Given the description of an element on the screen output the (x, y) to click on. 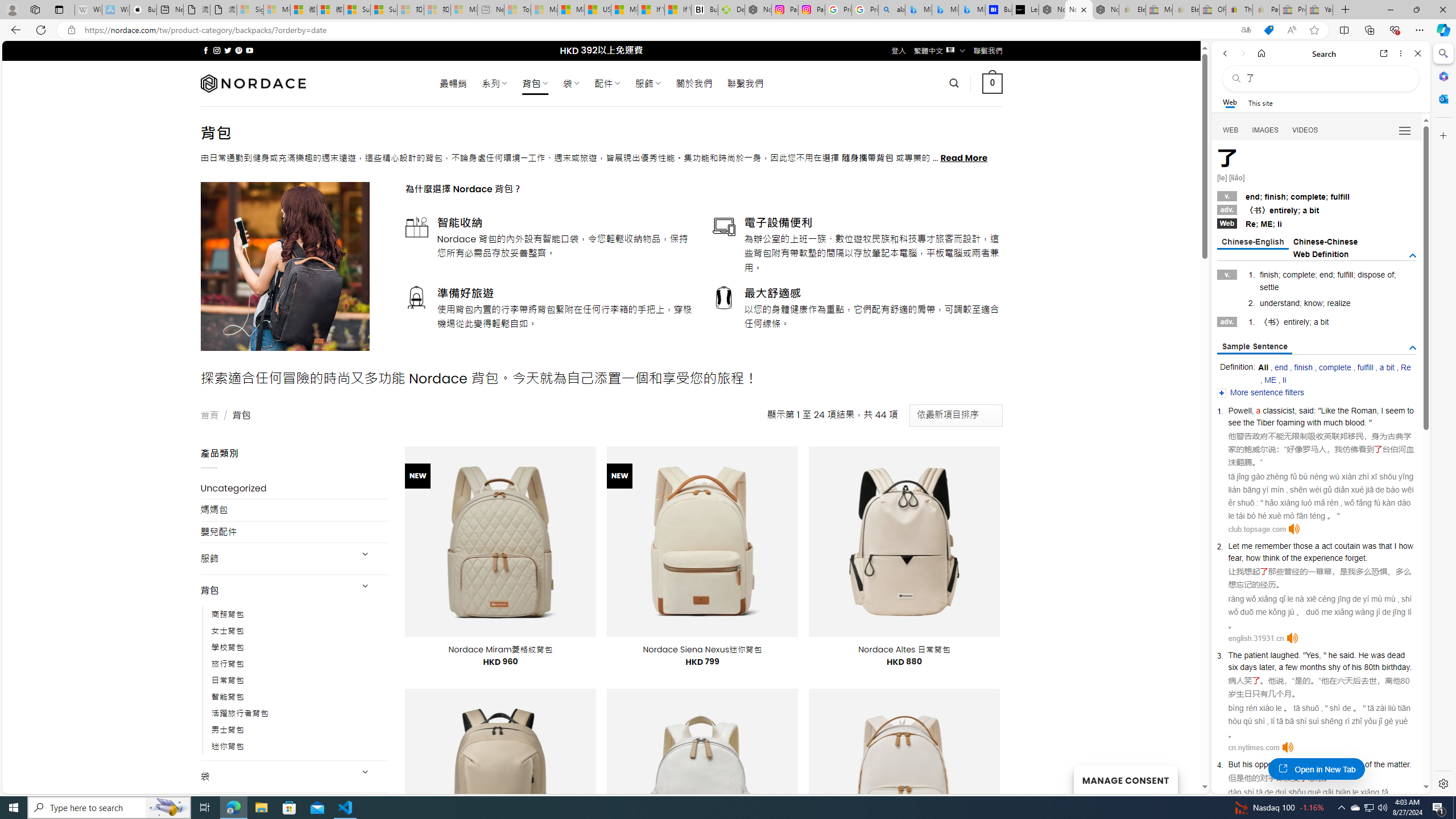
Read More (964, 157)
patient (1255, 655)
seem (1395, 410)
Follow on Twitter (227, 50)
Follow on Facebook (205, 50)
entirely (1297, 321)
cn.nytimes.com (1253, 747)
those (1302, 545)
